Given the description of an element on the screen output the (x, y) to click on. 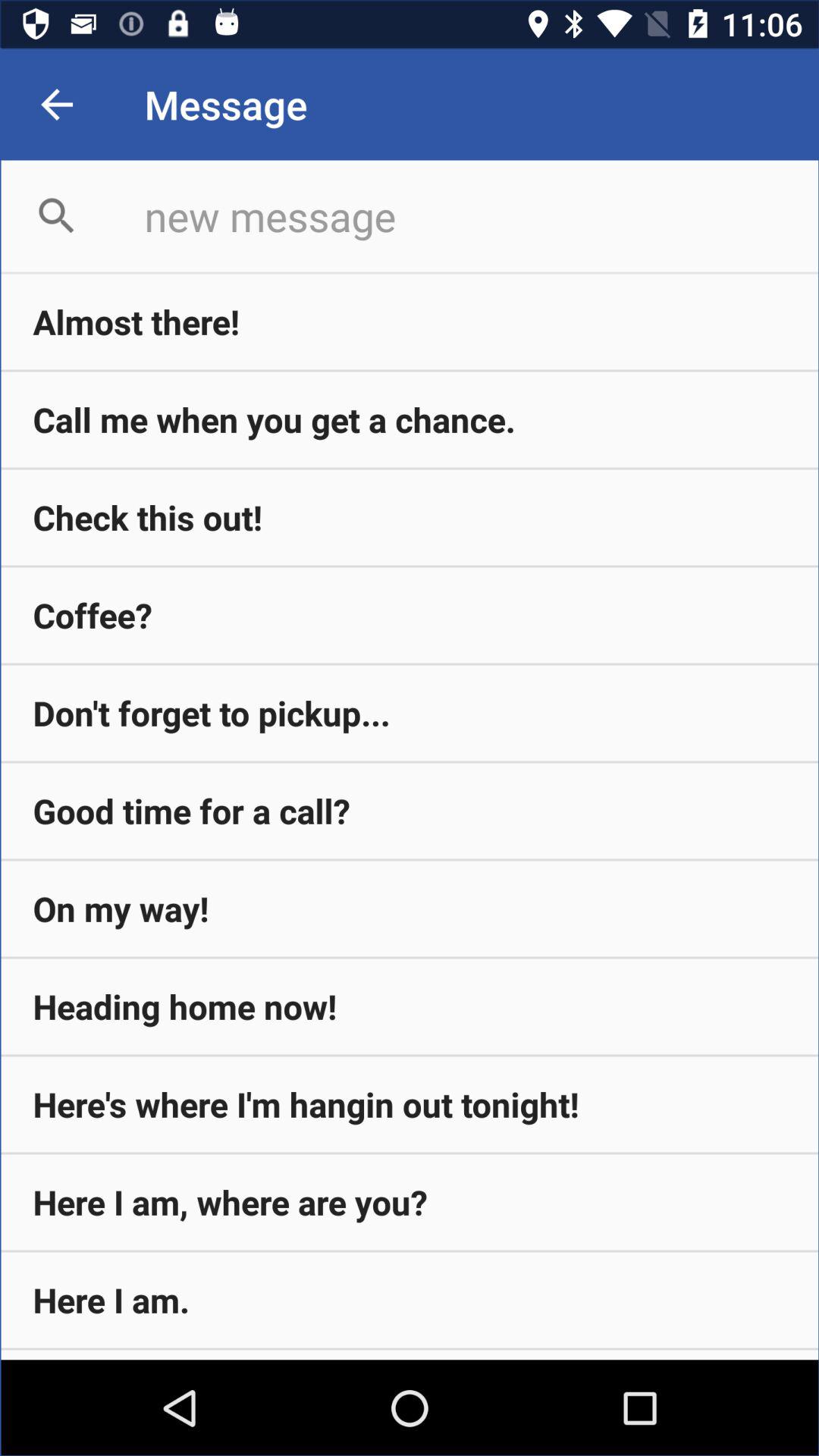
tap the here s where icon (409, 1104)
